Given the description of an element on the screen output the (x, y) to click on. 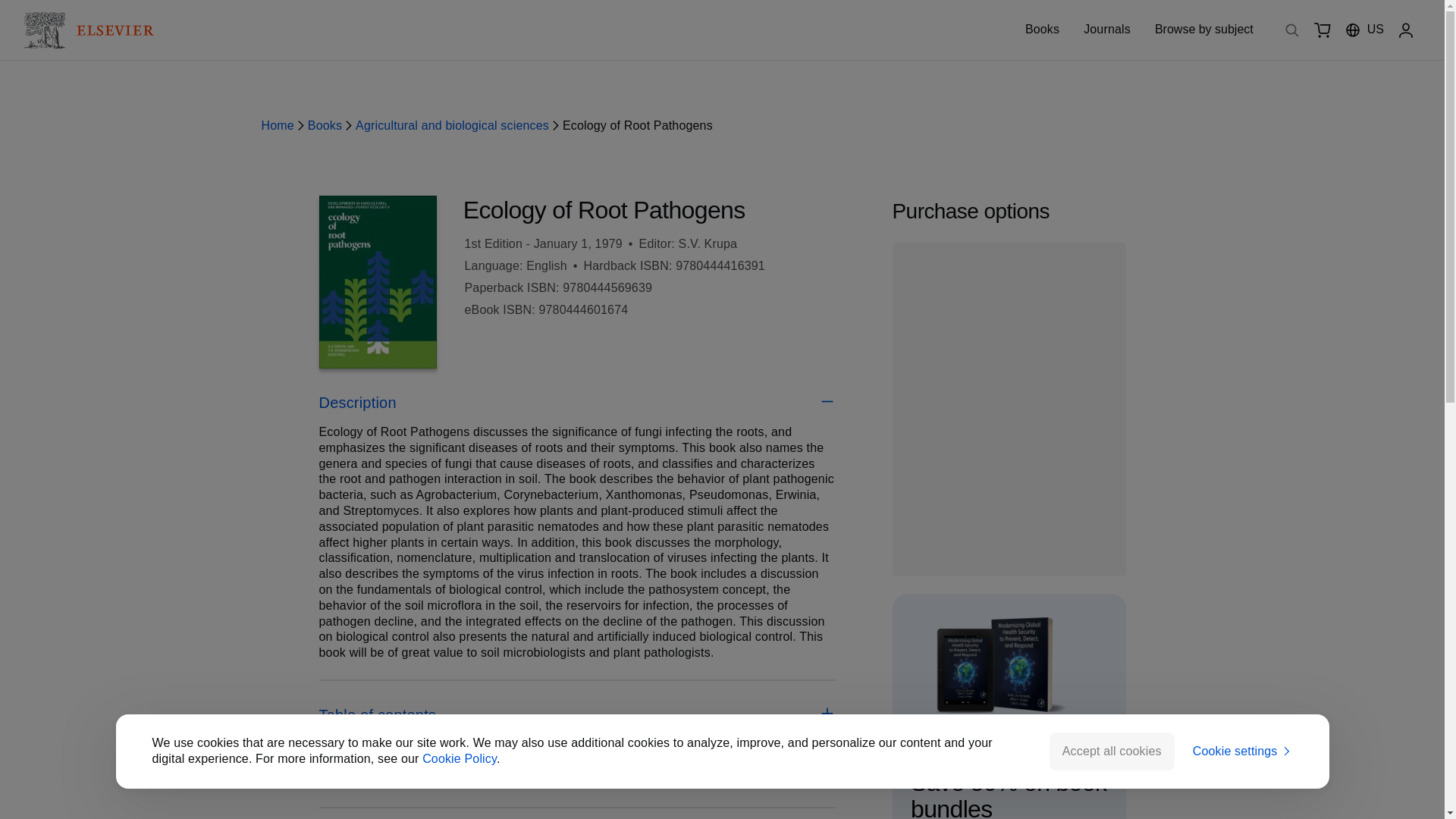
Browse by subject (1203, 29)
Cookie settings (1242, 751)
Journals (1107, 29)
Cookie Policy (459, 758)
Accept all cookies (1111, 751)
Books (1042, 29)
